Given the description of an element on the screen output the (x, y) to click on. 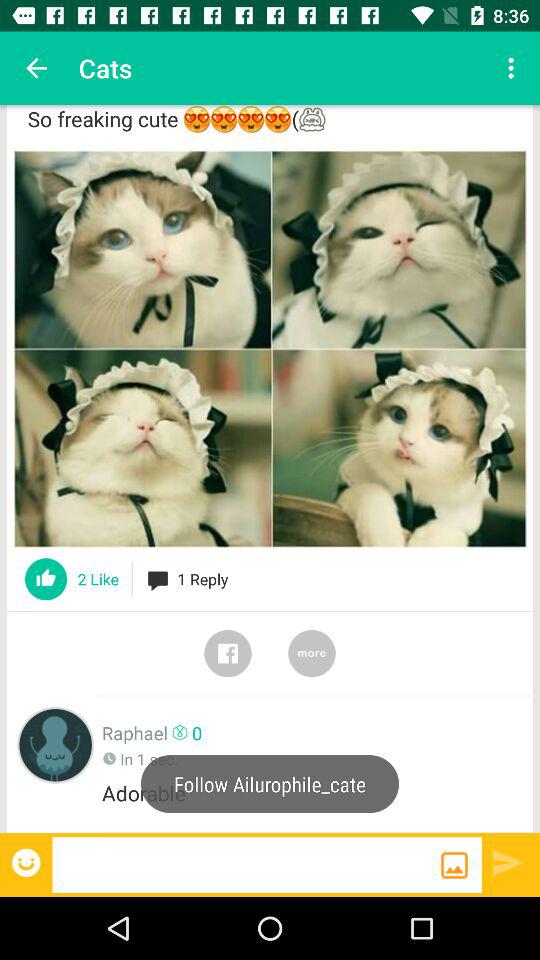
click app next to the cats icon (513, 67)
